Given the description of an element on the screen output the (x, y) to click on. 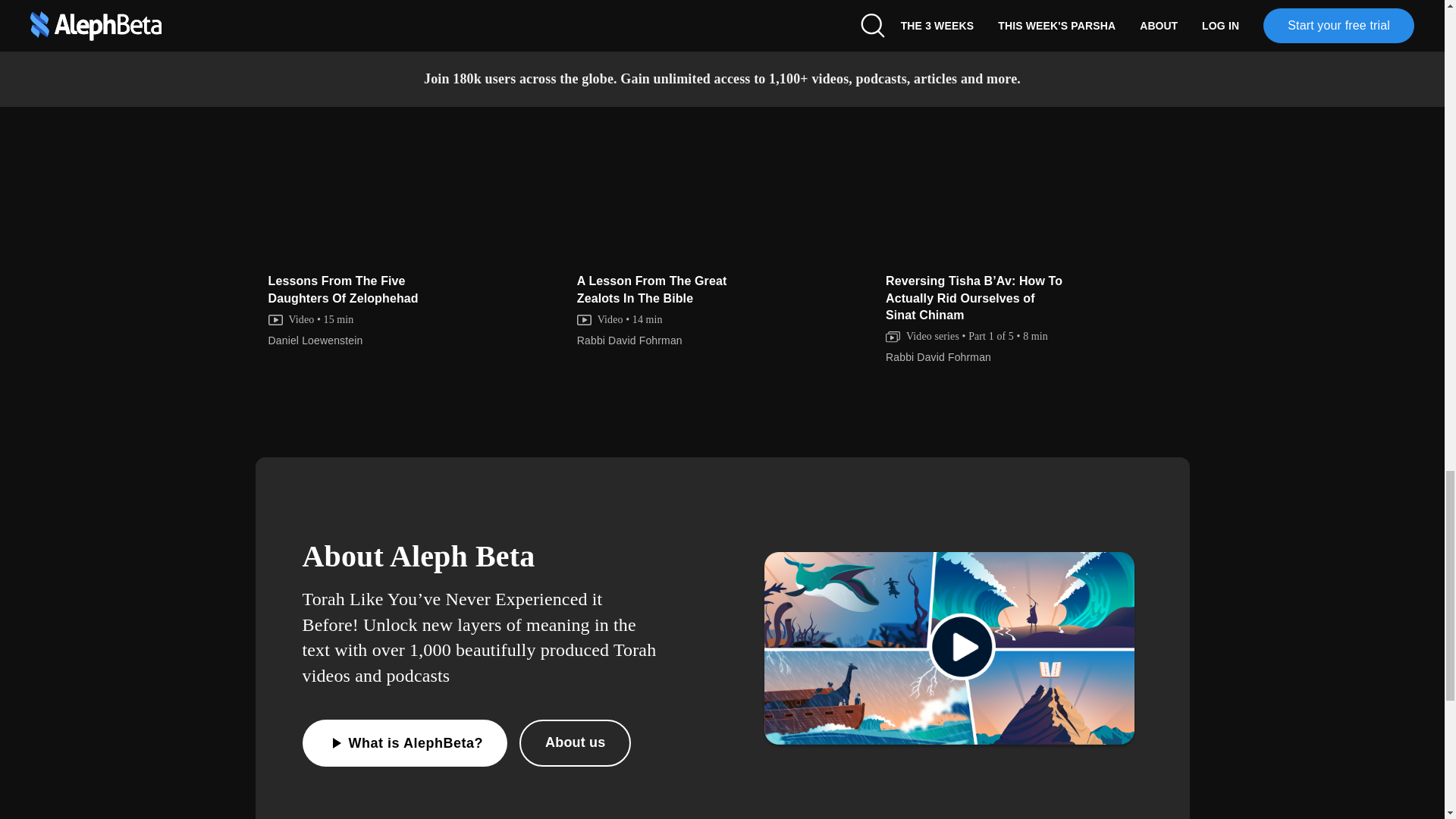
What is AlephBeta? (403, 742)
Lessons From The Five Daughters Of Zelophehad (415, 177)
A Lesson From The Great Zealots In The Bible (723, 177)
About us (574, 742)
